Given the description of an element on the screen output the (x, y) to click on. 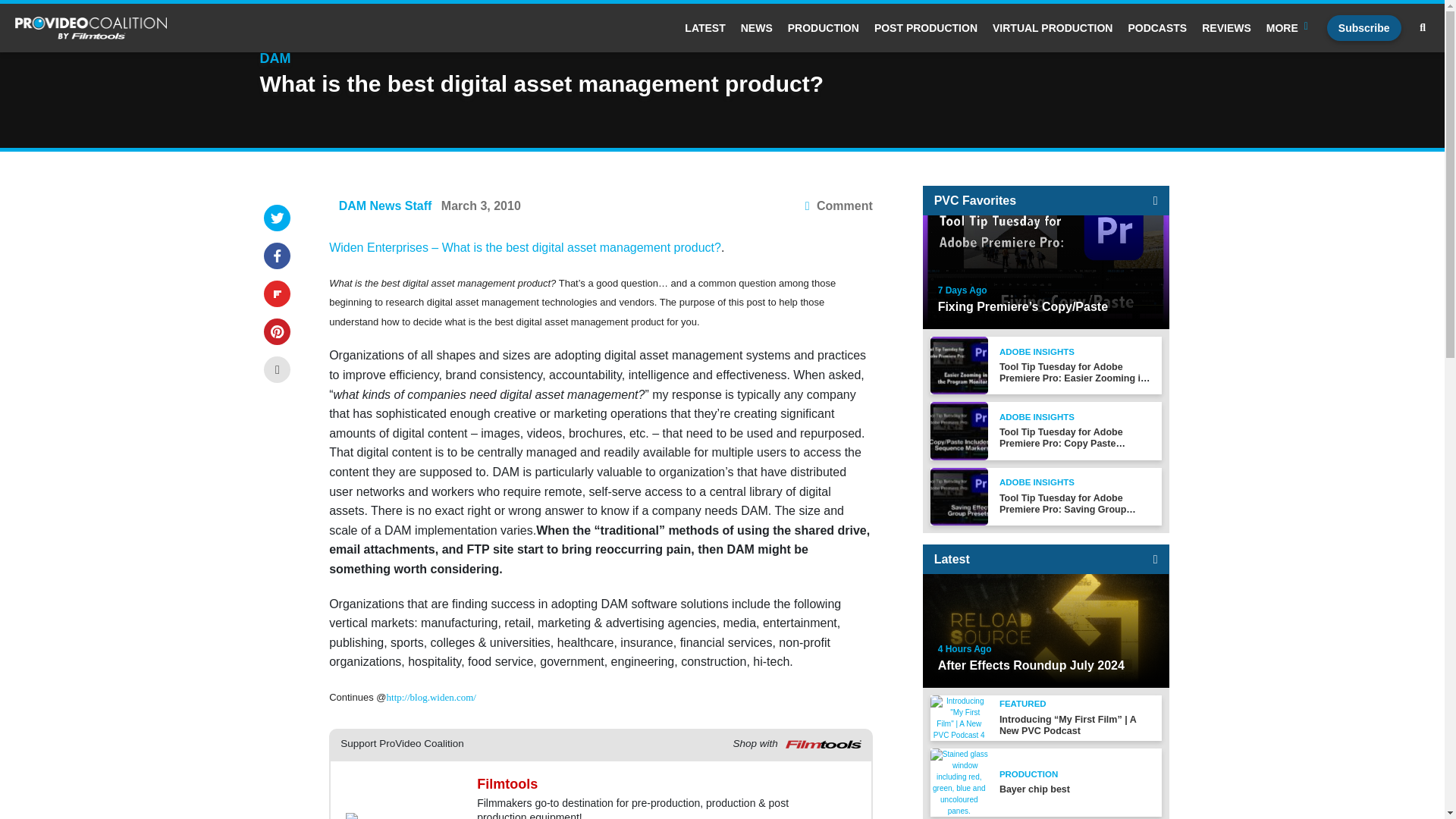
DAM News Staff (385, 205)
PRODUCTION (823, 27)
Subscribe (1363, 27)
More   (1288, 27)
Comment (838, 206)
Subscribe (1363, 27)
Production (823, 27)
Podcasts (1156, 27)
Reviews (1226, 27)
POST PRODUCTION (925, 27)
Virtual Production (1052, 27)
VIRTUAL PRODUCTION (1052, 27)
Latest (704, 27)
PODCASTS (1156, 27)
Search (1422, 27)
